Given the description of an element on the screen output the (x, y) to click on. 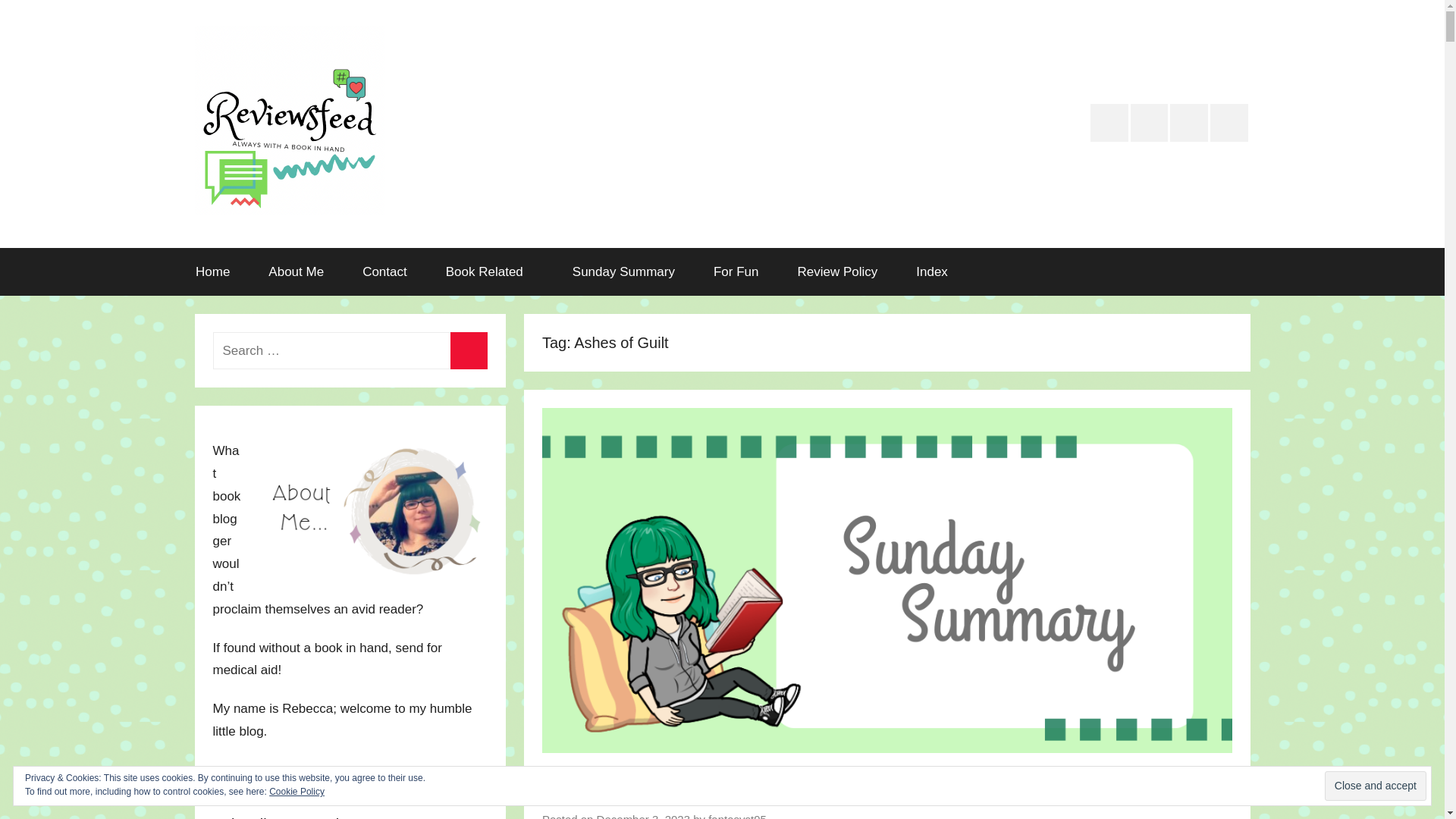
December 3, 2023 (643, 816)
Review Policy (836, 271)
About Me (295, 271)
Twitter (1109, 122)
Book Related (489, 271)
Close and accept (1375, 785)
Contact (384, 271)
For Fun (735, 271)
Home (212, 271)
Sunday Summary (623, 271)
View all posts by fantasyst95 (737, 816)
GoodReads (1150, 122)
Search for: (349, 350)
fantasyst95 (737, 816)
Instagram (1189, 122)
